Given the description of an element on the screen output the (x, y) to click on. 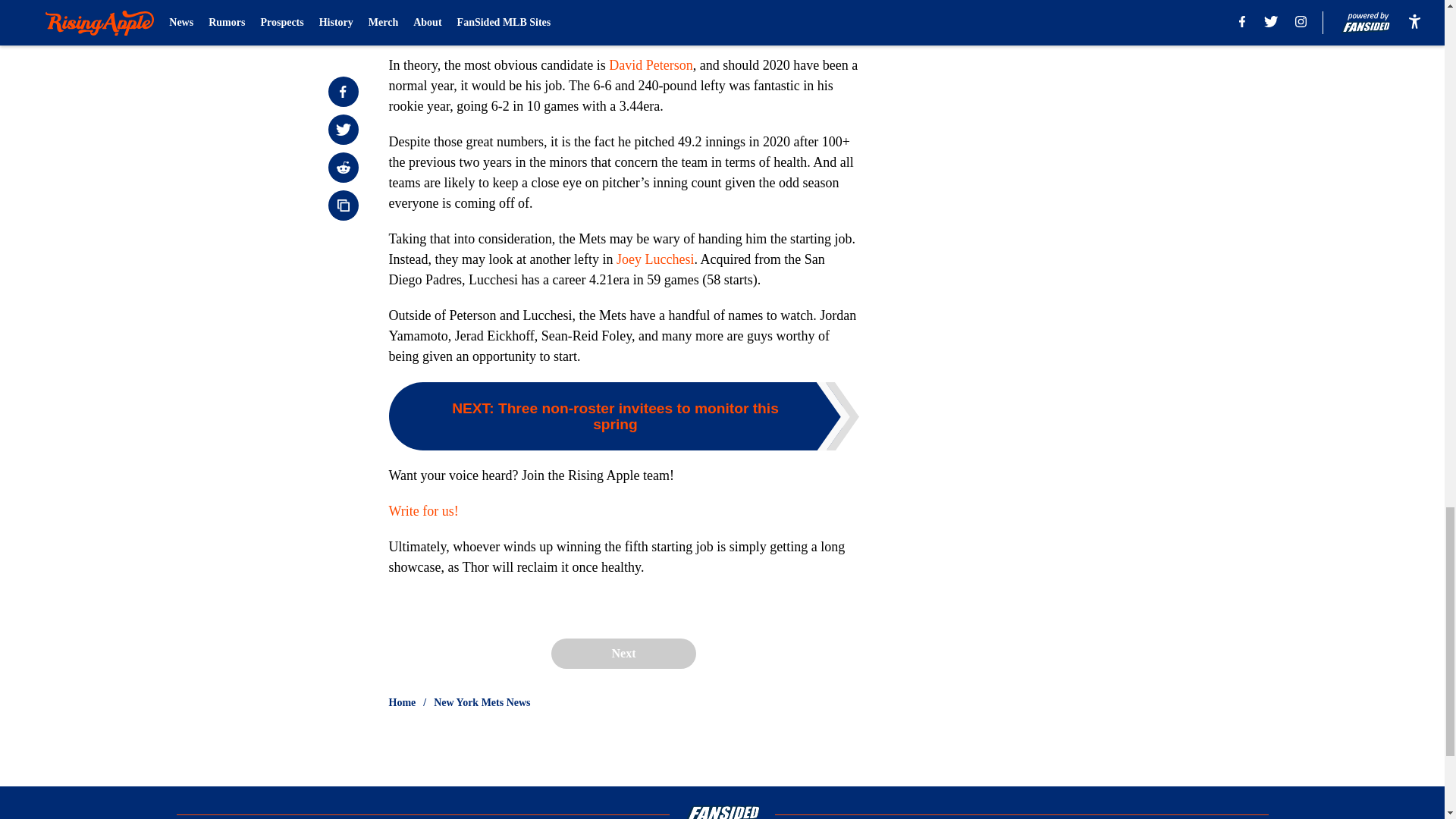
NEXT: Three non-roster invitees to monitor this spring (623, 416)
David Peterson (650, 64)
Next (622, 653)
Home (401, 702)
Write for us! (423, 510)
Joey Lucchesi (654, 258)
New York Mets News (481, 702)
